Given the description of an element on the screen output the (x, y) to click on. 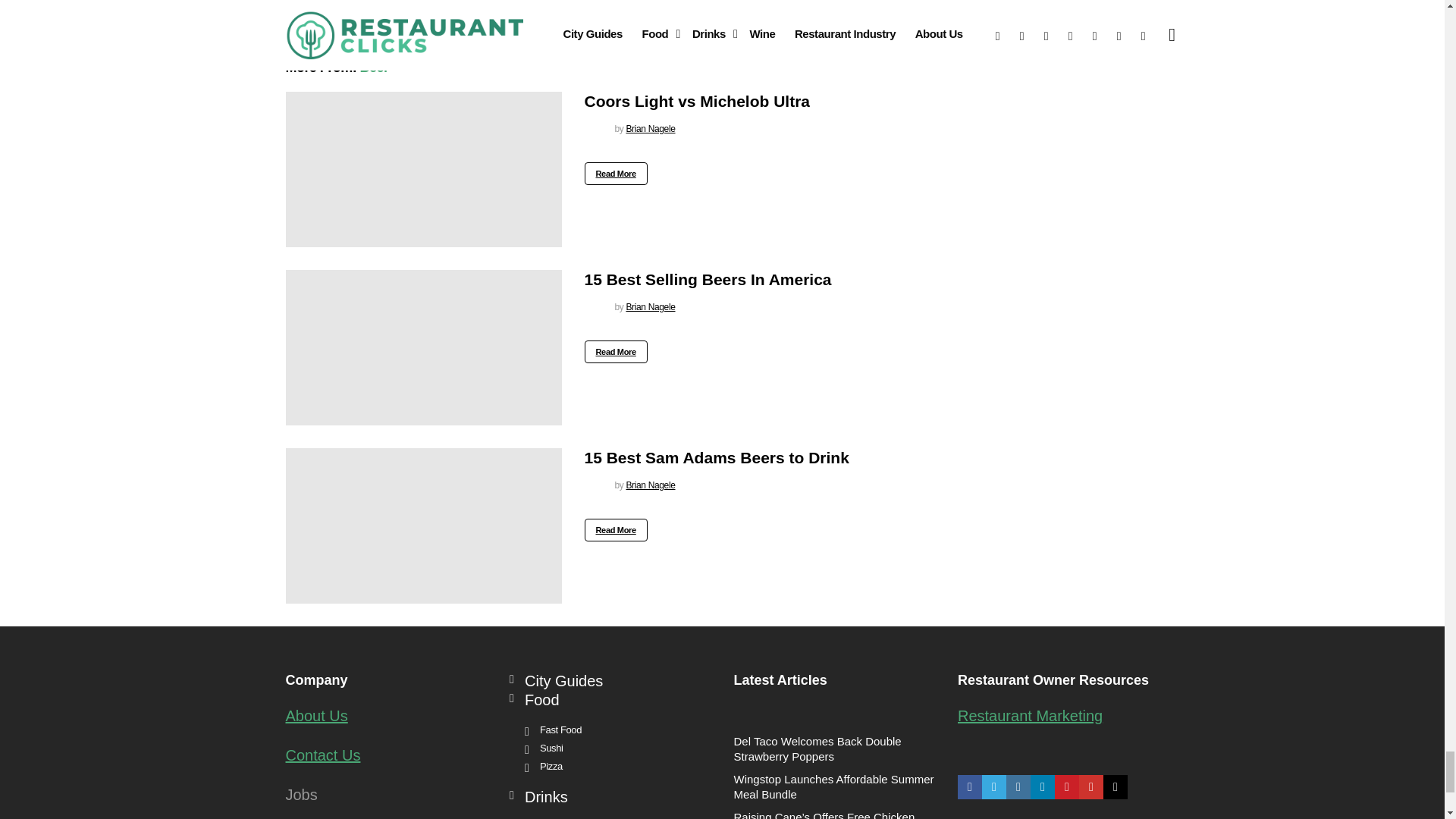
Coors Light vs Michelob Ultra (422, 169)
Posts by Brian Nagele (650, 128)
Posts by Brian Nagele (650, 307)
15 Best Selling Beers In America (422, 347)
